Given the description of an element on the screen output the (x, y) to click on. 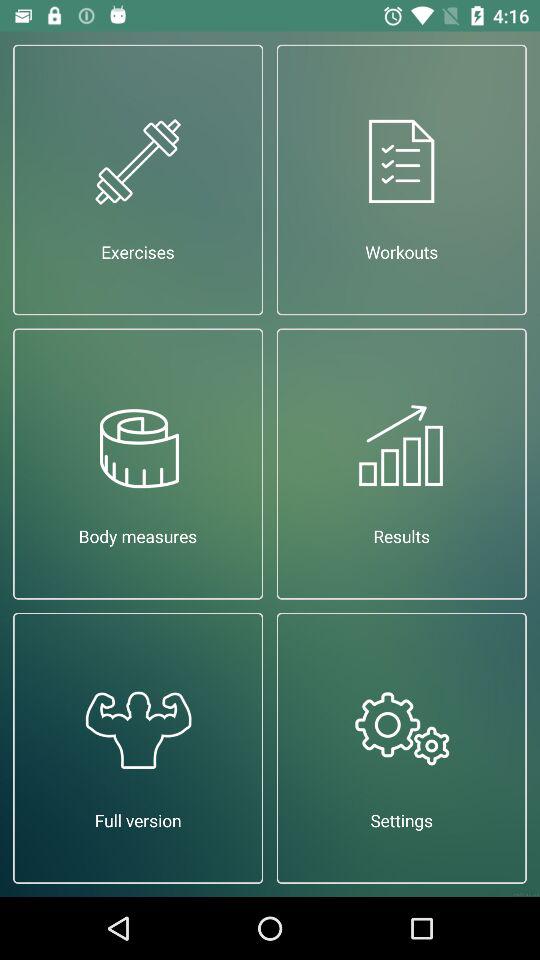
open item above the settings icon (401, 463)
